Given the description of an element on the screen output the (x, y) to click on. 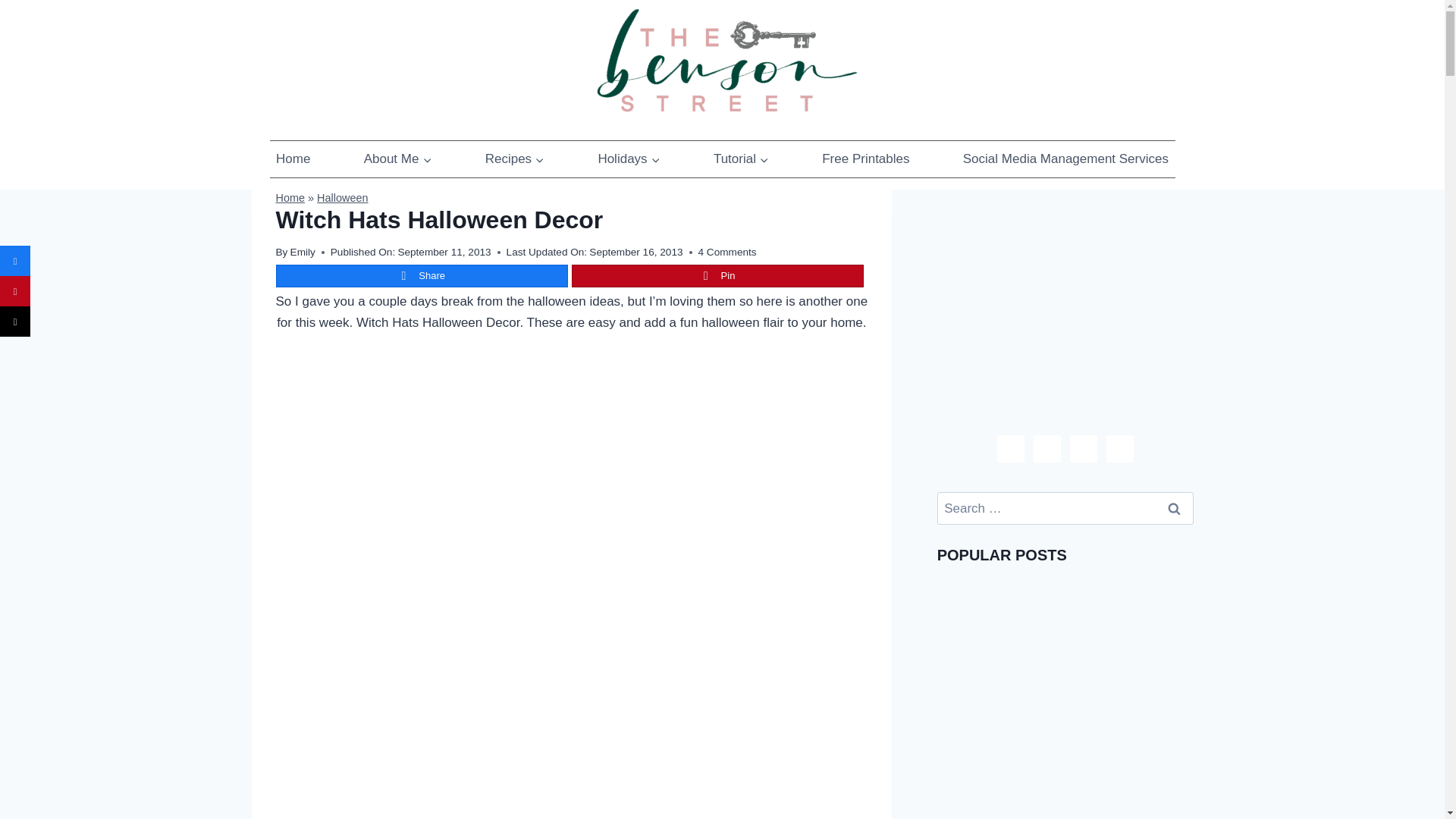
Free Printables (865, 158)
Search (1174, 508)
4 Comments (727, 252)
Home (293, 158)
Share (421, 276)
Year Long Doodling Challenge: Daily Drawing Challenges (1000, 761)
Taylor Swift Coloring Pages: Swiftie Inspired Free Printable (1000, 637)
Social Media Management Services (1065, 158)
Home (290, 197)
About Me (397, 158)
